Given the description of an element on the screen output the (x, y) to click on. 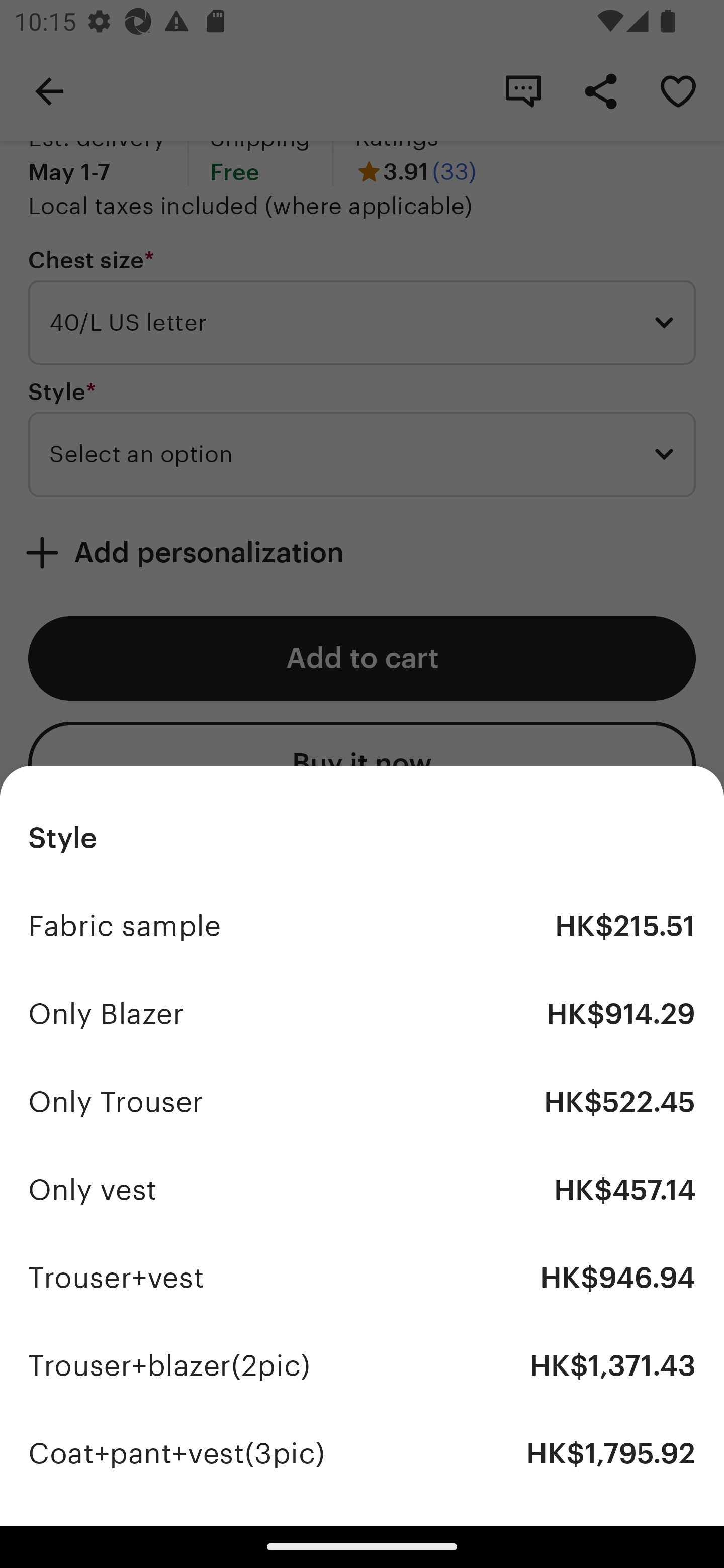
Fabric sample HK$215.51 (362, 925)
Only Blazer HK$914.29 (362, 1014)
Only Trouser HK$522.45 (362, 1102)
Only vest HK$457.14 (362, 1190)
Trouser+vest HK$946.94 (362, 1277)
Trouser+blazer(2pic) HK$1,371.43 (362, 1365)
Coat+pant+vest(3pic) HK$1,795.92 (362, 1453)
